Given the description of an element on the screen output the (x, y) to click on. 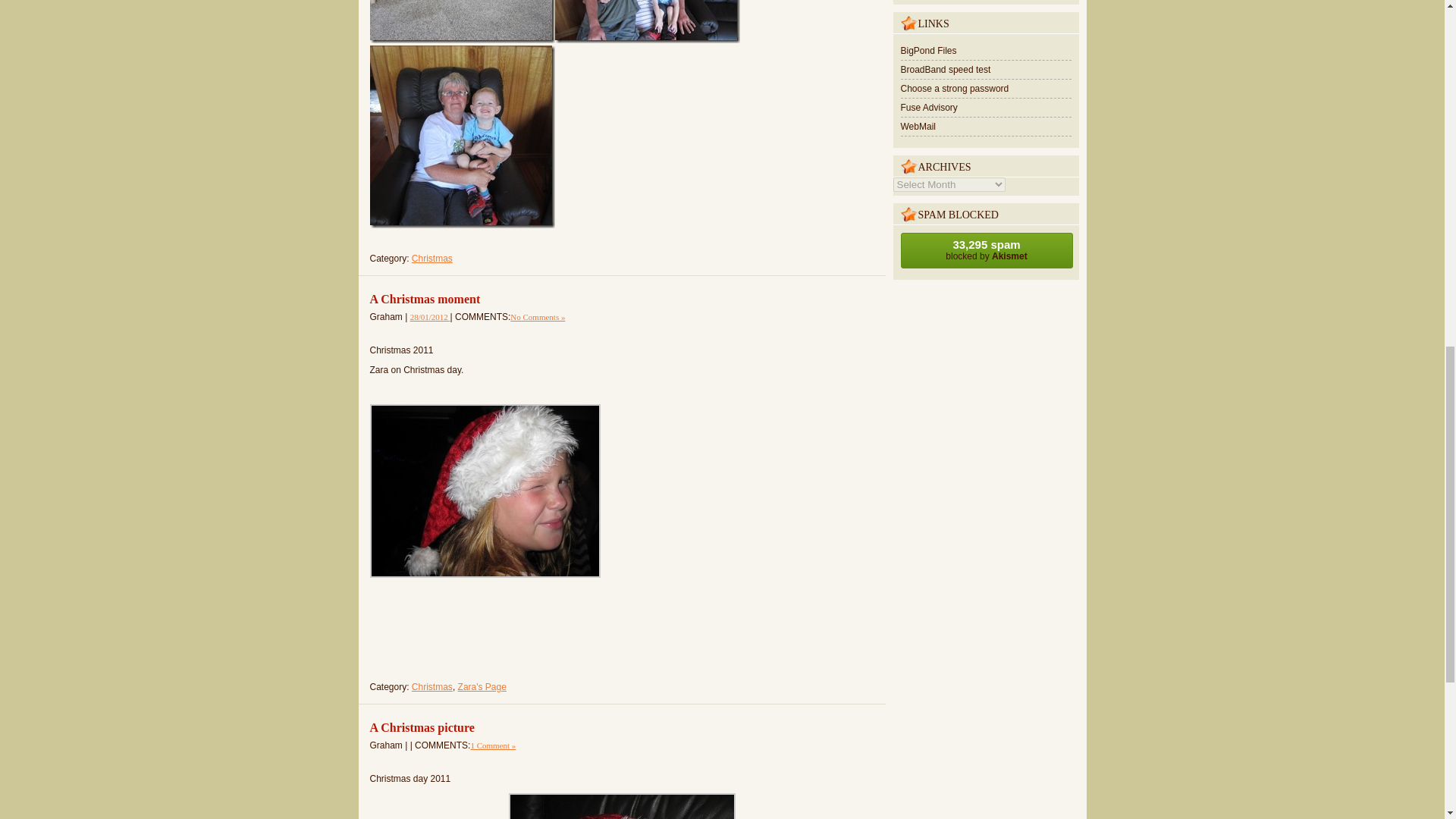
Zara's Page (482, 686)
A Christmas moment (429, 316)
A Christmas moment (424, 298)
A Christmas picture (421, 727)
A Christmas moment (424, 298)
Christmas (432, 258)
Christmas (432, 686)
A Christmas picture (421, 727)
ZaraXmas2011 (484, 491)
